Given the description of an element on the screen output the (x, y) to click on. 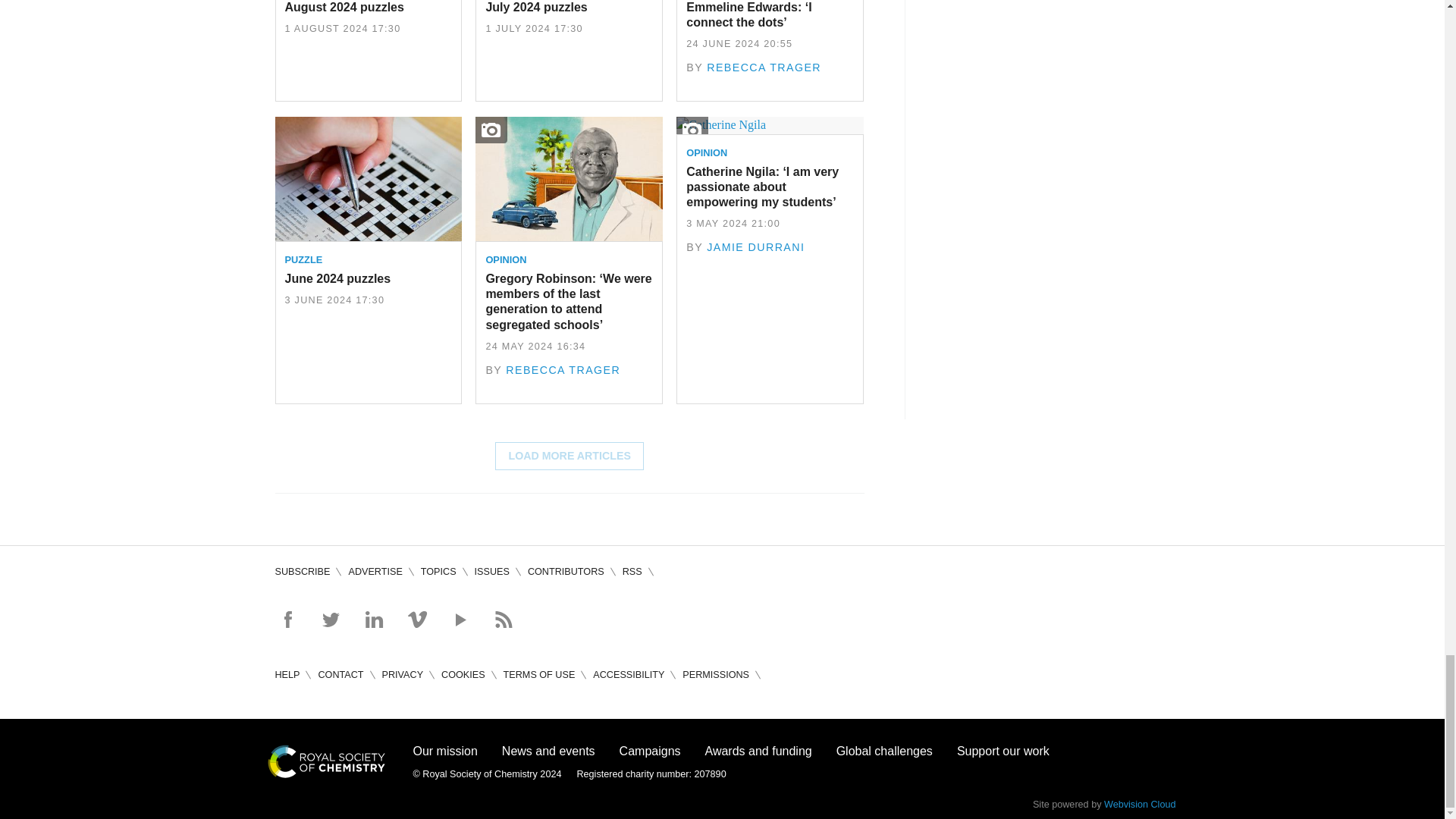
Follow on Twitter (330, 619)
Watch on Vimeo (416, 619)
Follow on Facebook (287, 619)
Connect on Linked in (373, 619)
